Given the description of an element on the screen output the (x, y) to click on. 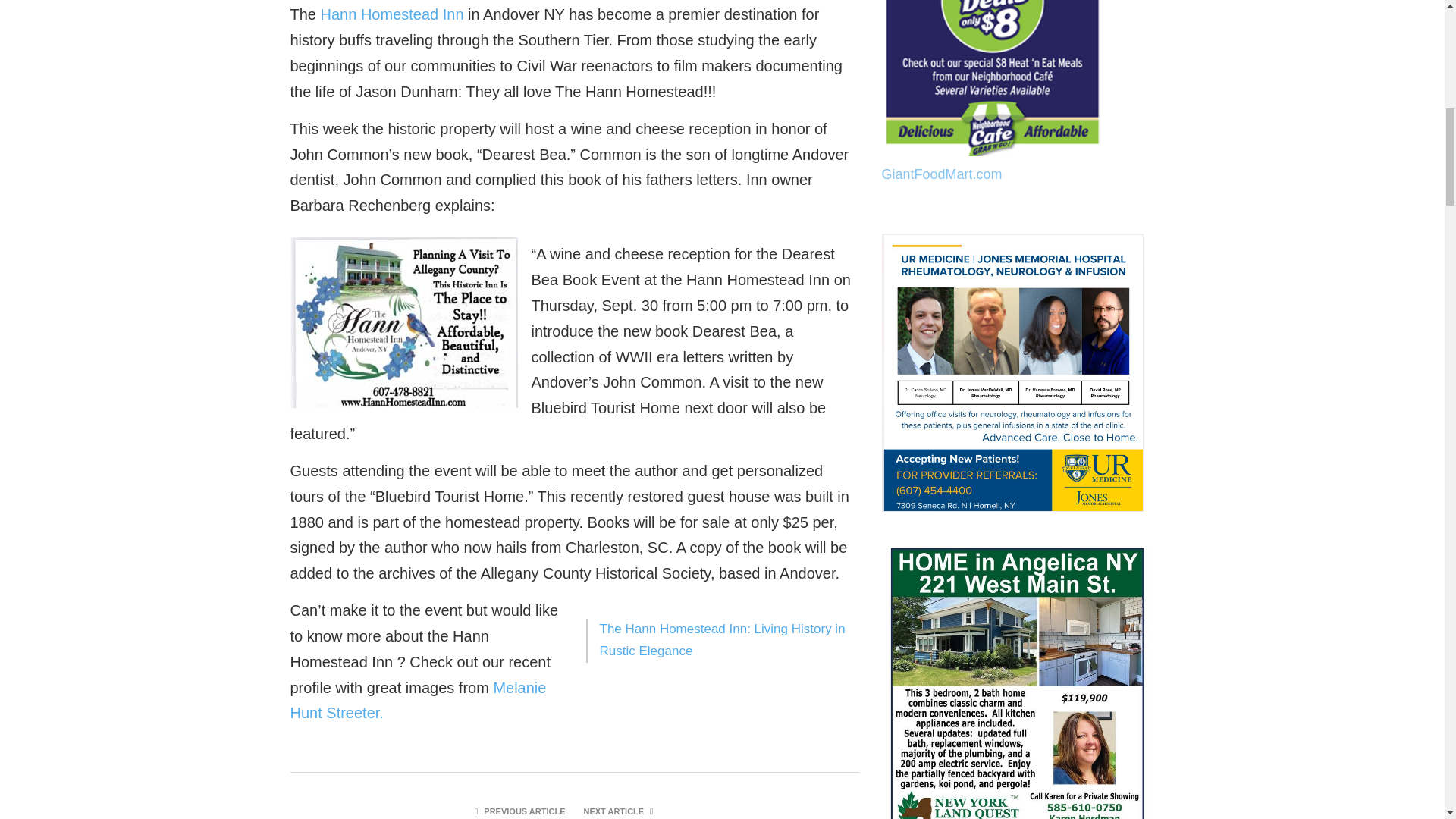
The Hann Homestead Inn: Living History in Rustic Elegance (721, 639)
Melanie Hunt Streeter. (417, 700)
Hann Homestead Inn (392, 13)
